Given the description of an element on the screen output the (x, y) to click on. 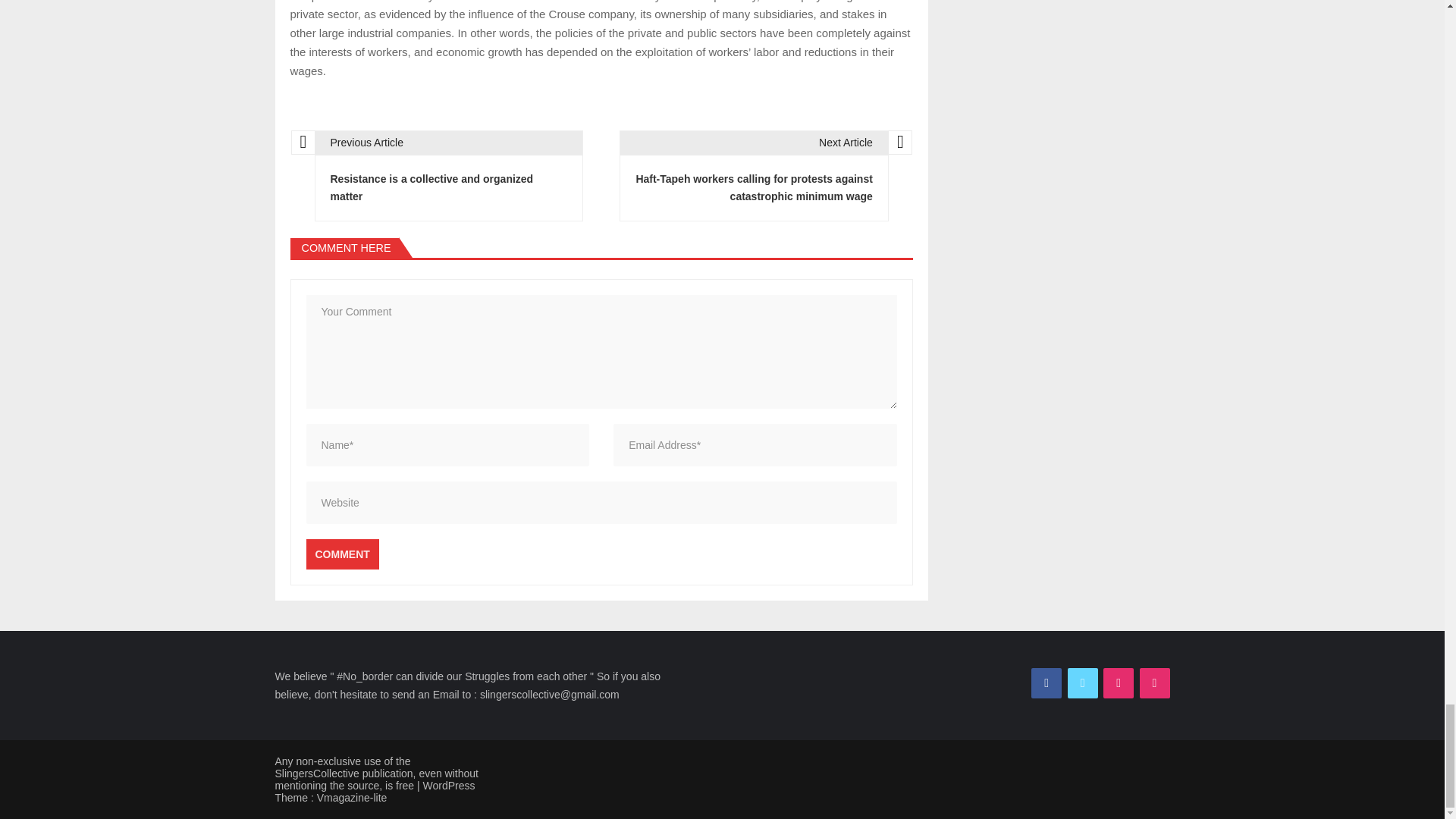
Comment (341, 553)
